Given the description of an element on the screen output the (x, y) to click on. 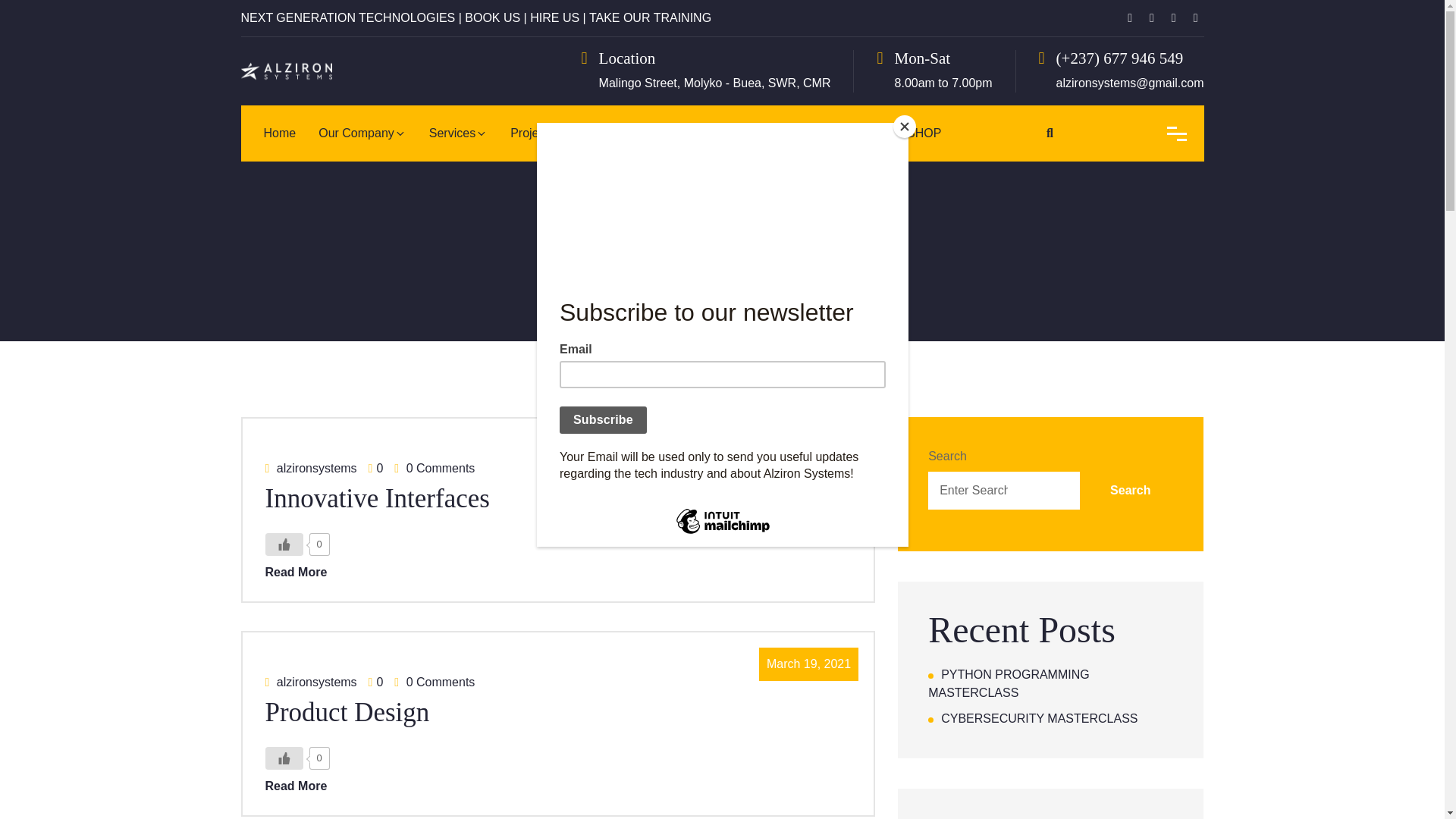
Machine Learning (661, 176)
Home (279, 133)
About Us (390, 176)
Services (458, 133)
Research (620, 133)
Mobile Apps (582, 176)
Mobile App Development (501, 185)
Our Company (362, 133)
Web Development (501, 176)
Projects (538, 133)
